Given the description of an element on the screen output the (x, y) to click on. 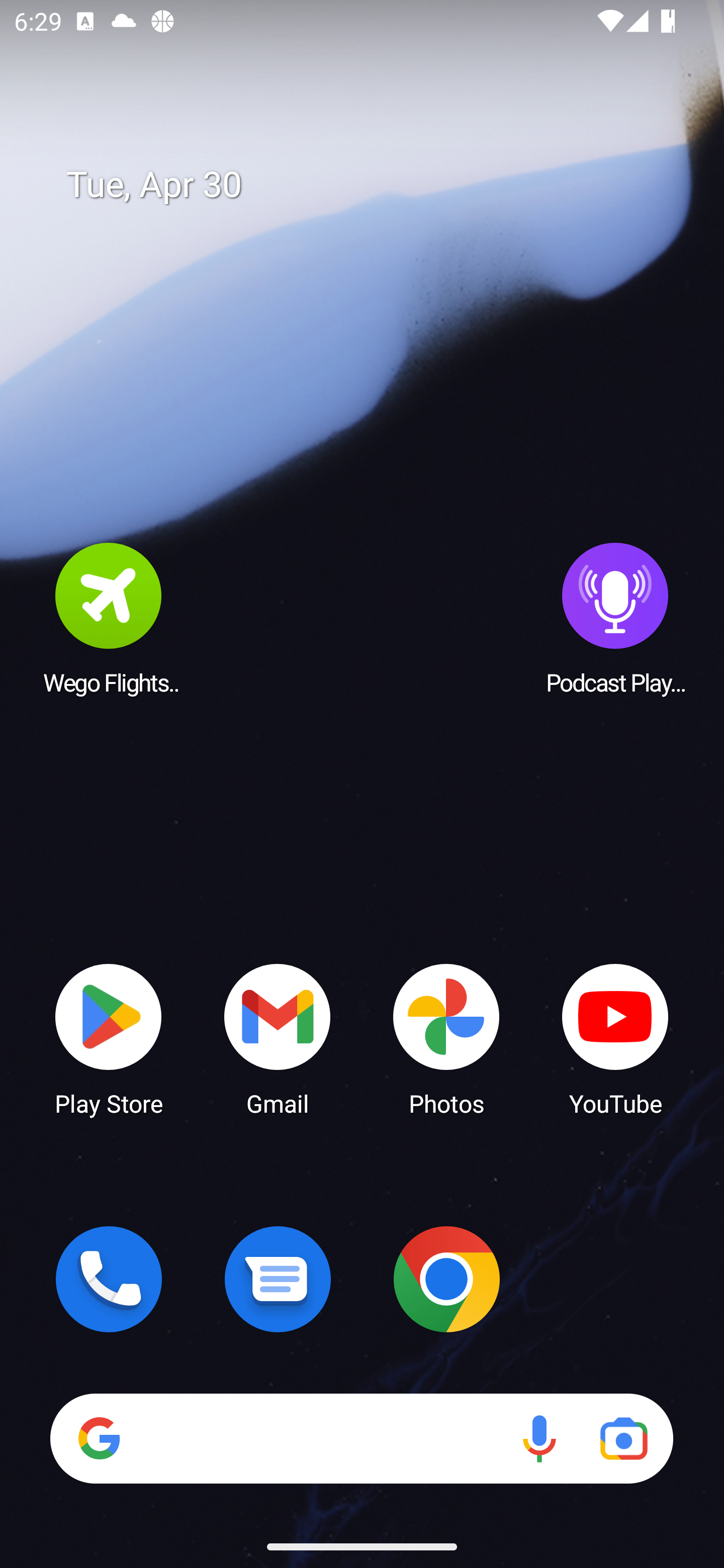
Tue, Apr 30 (375, 184)
Wego Flights & Hotels (108, 617)
Podcast Player (615, 617)
Play Store (108, 1038)
Gmail (277, 1038)
Photos (445, 1038)
YouTube (615, 1038)
Phone (108, 1279)
Messages (277, 1279)
Chrome (446, 1279)
Voice search (539, 1438)
Google Lens (623, 1438)
